Given the description of an element on the screen output the (x, y) to click on. 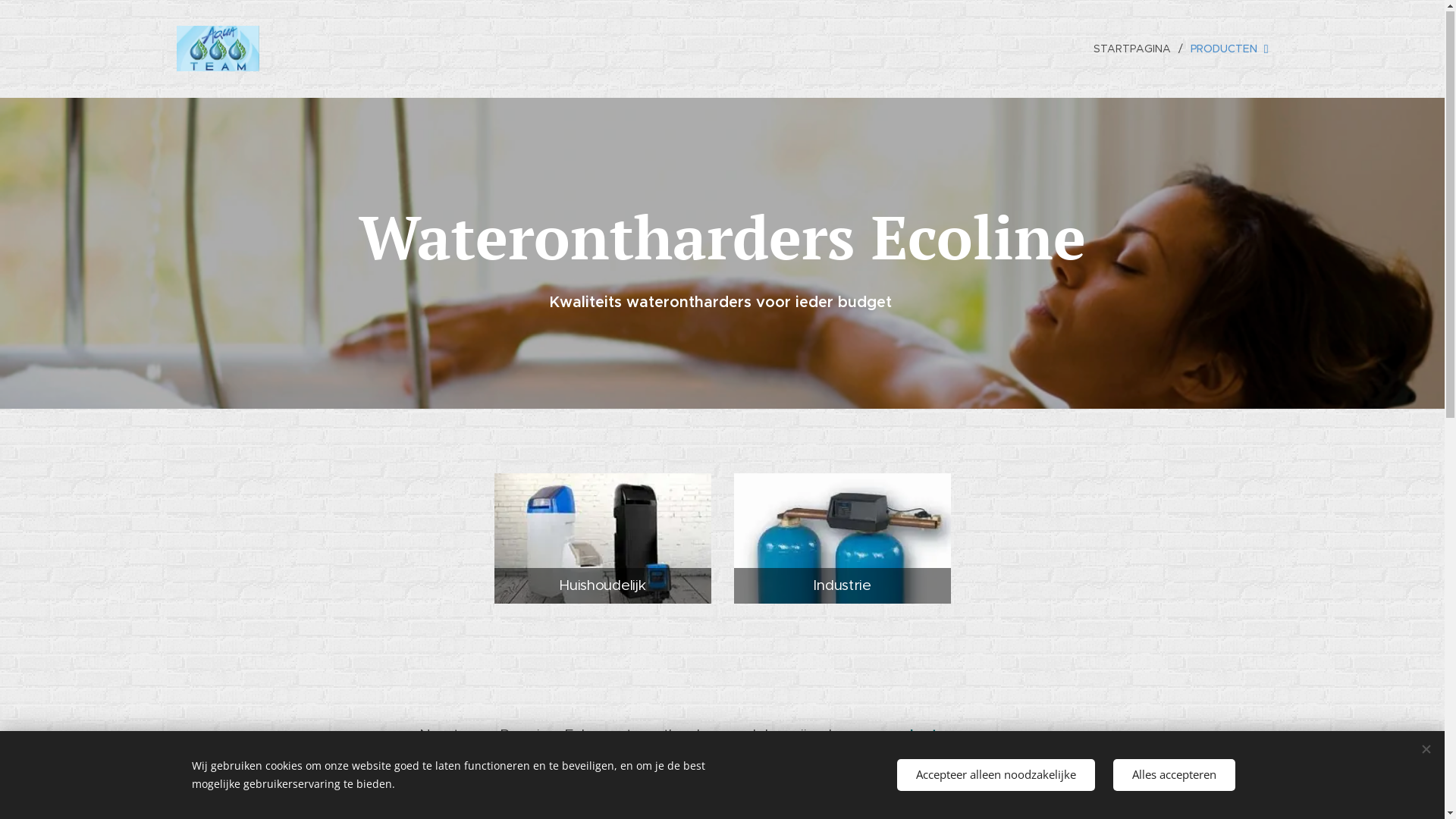
STARTPAGINA Element type: text (1135, 49)
Accepteer alleen noodzakelijke Element type: text (995, 774)
Alles accepteren Element type: text (1174, 774)
PRODUCTEN Element type: text (1225, 49)
